Given the description of an element on the screen output the (x, y) to click on. 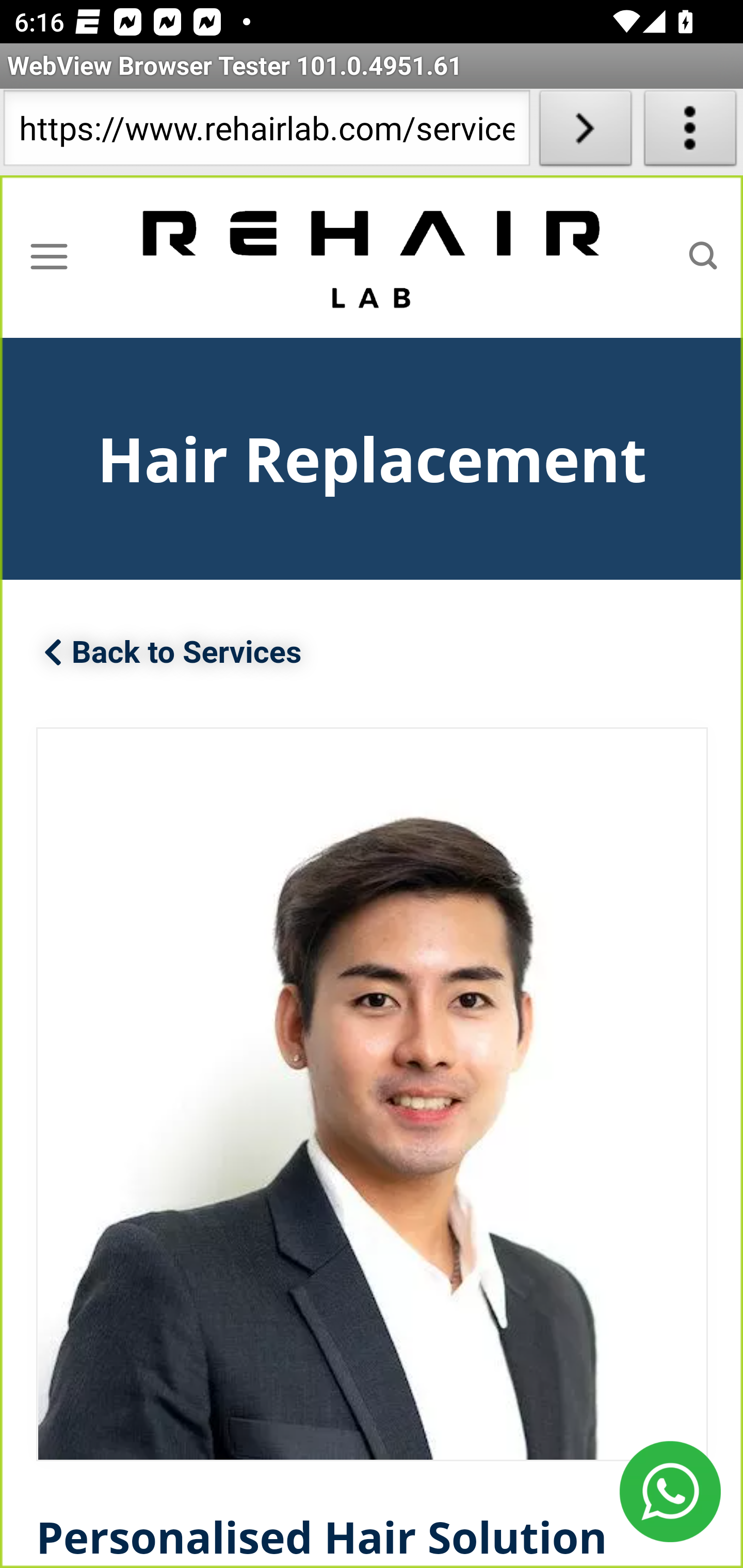
Load URL (585, 132)
About WebView (690, 132)
Rehair Lab (372, 256)
Menu  (48, 256)
Search  (703, 256)
Back to Services (173, 653)
